Given the description of an element on the screen output the (x, y) to click on. 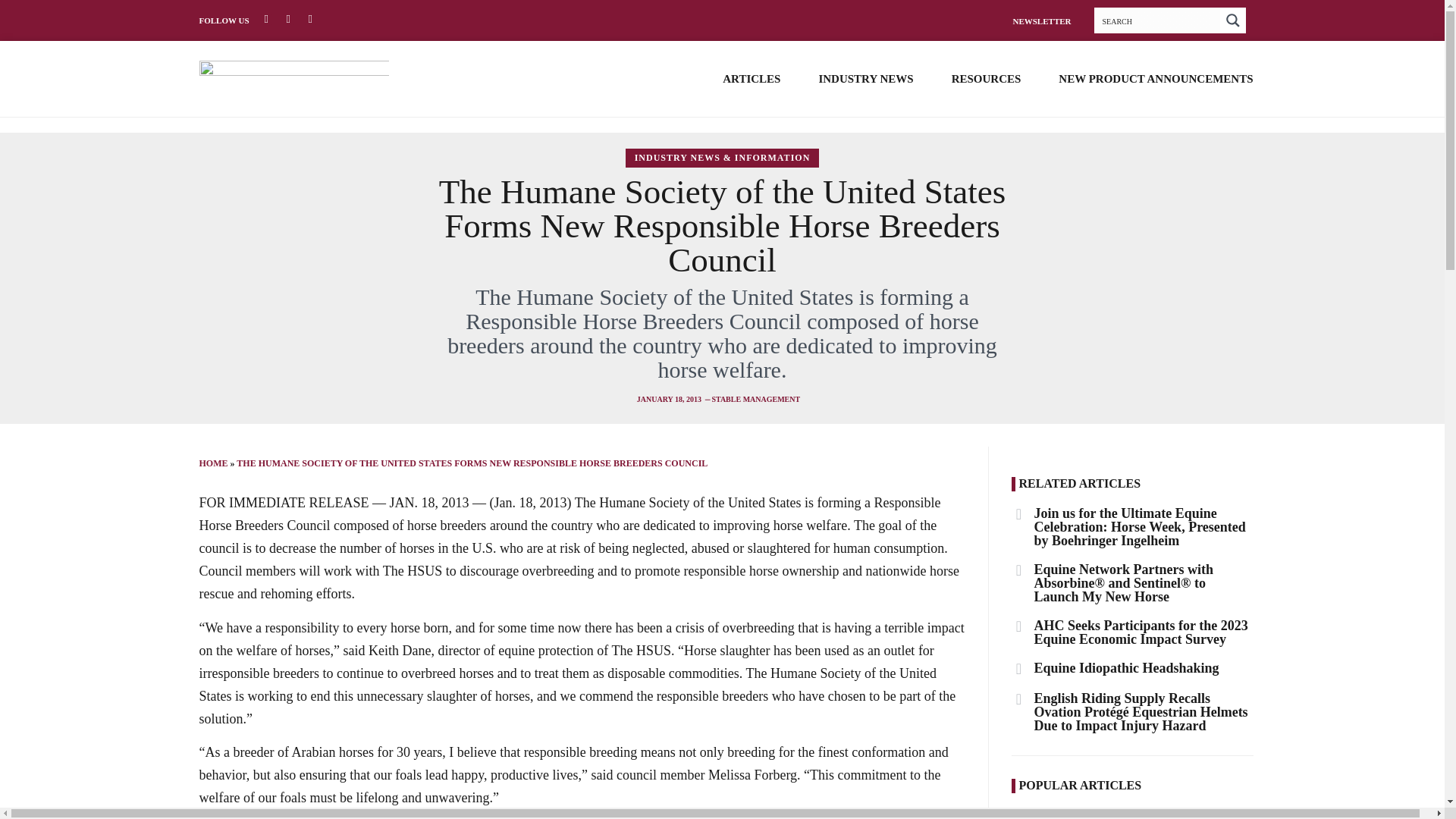
ARTICLES (751, 78)
NEWSLETTER (1040, 20)
RESOURCES (987, 78)
INDUSTRY NEWS (865, 78)
NEW PRODUCT ANNOUNCEMENTS (1155, 78)
